Given the description of an element on the screen output the (x, y) to click on. 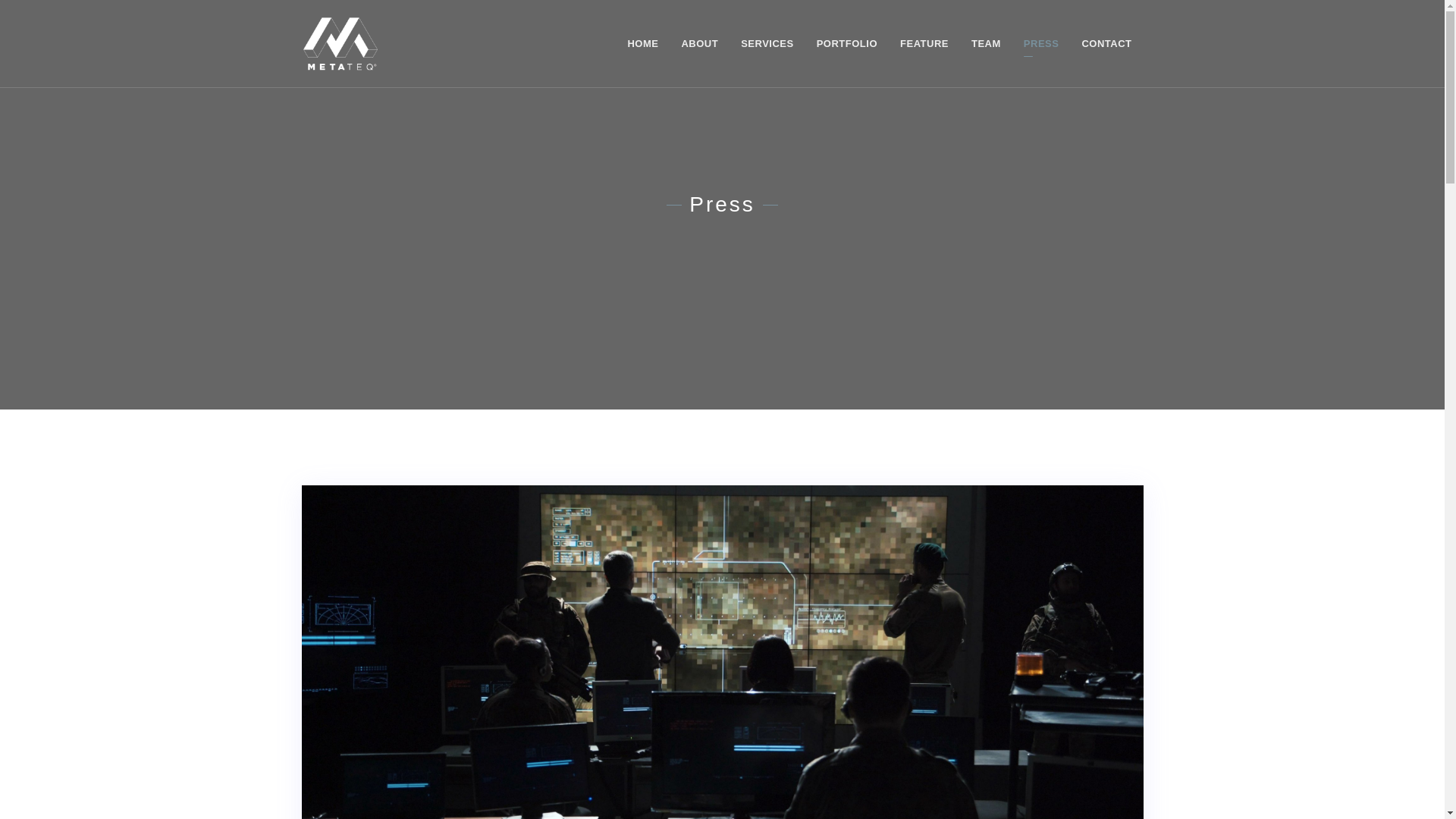
CONTACT (1106, 43)
HOME (642, 43)
PORTFOLIO (846, 43)
PRESS (1040, 43)
ABOUT (699, 43)
SERVICES (767, 43)
TEAM (985, 43)
FEATURE (923, 43)
